Given the description of an element on the screen output the (x, y) to click on. 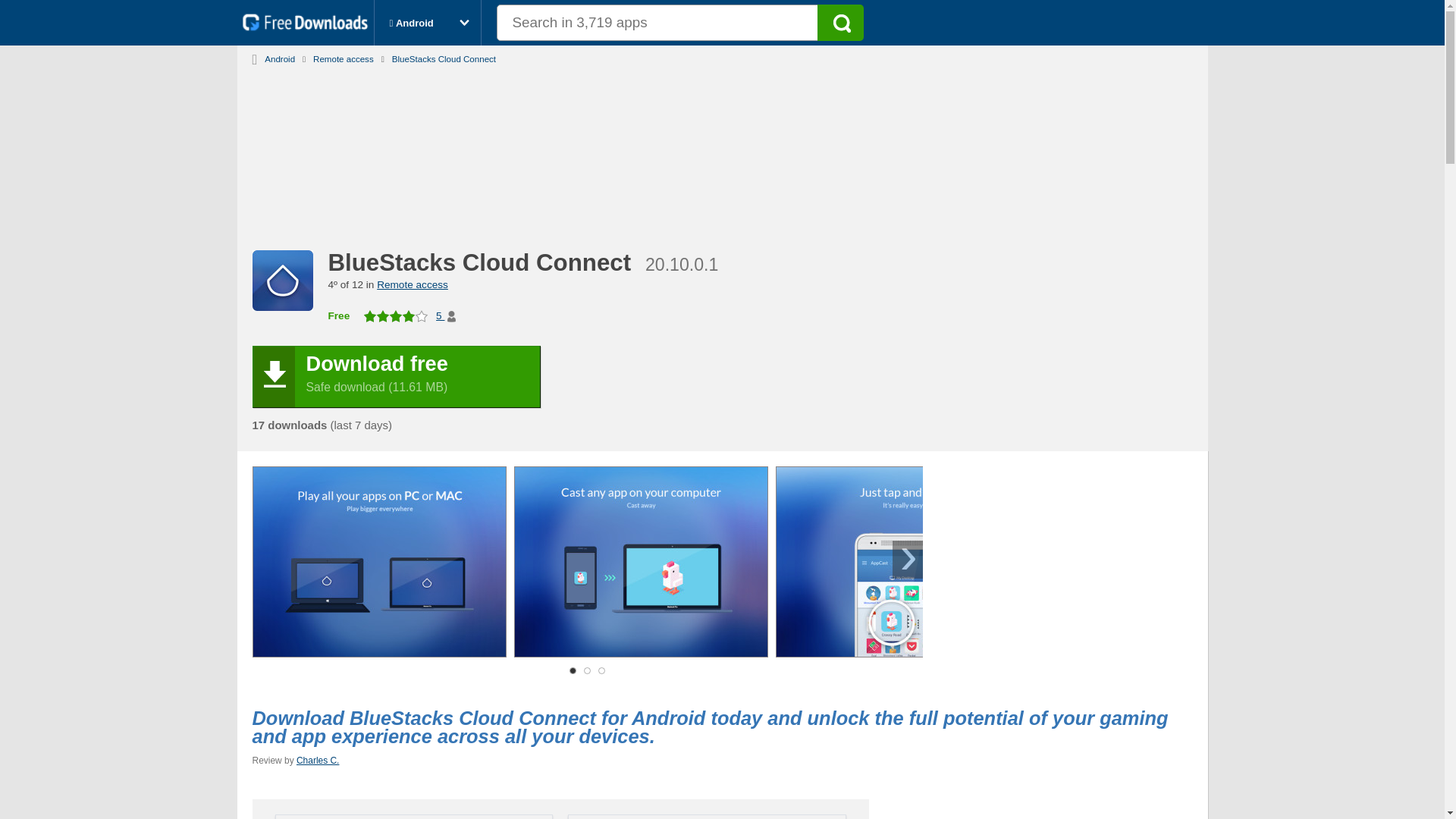
BlueStacks Cloud Connect (443, 55)
bluestacks cloud connect: Software of Remote access (443, 55)
to remotely access to your devices data and operate it from (412, 285)
to remotely access to your devices data and operate it from (343, 55)
Charles C. is a software editor at Free Downloads (318, 760)
Charles C. (318, 760)
BlueStacks Cloud Connect Imagen 2 (640, 563)
2 (587, 670)
5 (446, 316)
Remote access (412, 285)
Download bluestacks cloud connect (395, 376)
BlueStacks Cloud Connect Imagen 3 (901, 563)
Android (279, 55)
PortalProgramas (307, 26)
Remote access (343, 55)
